Given the description of an element on the screen output the (x, y) to click on. 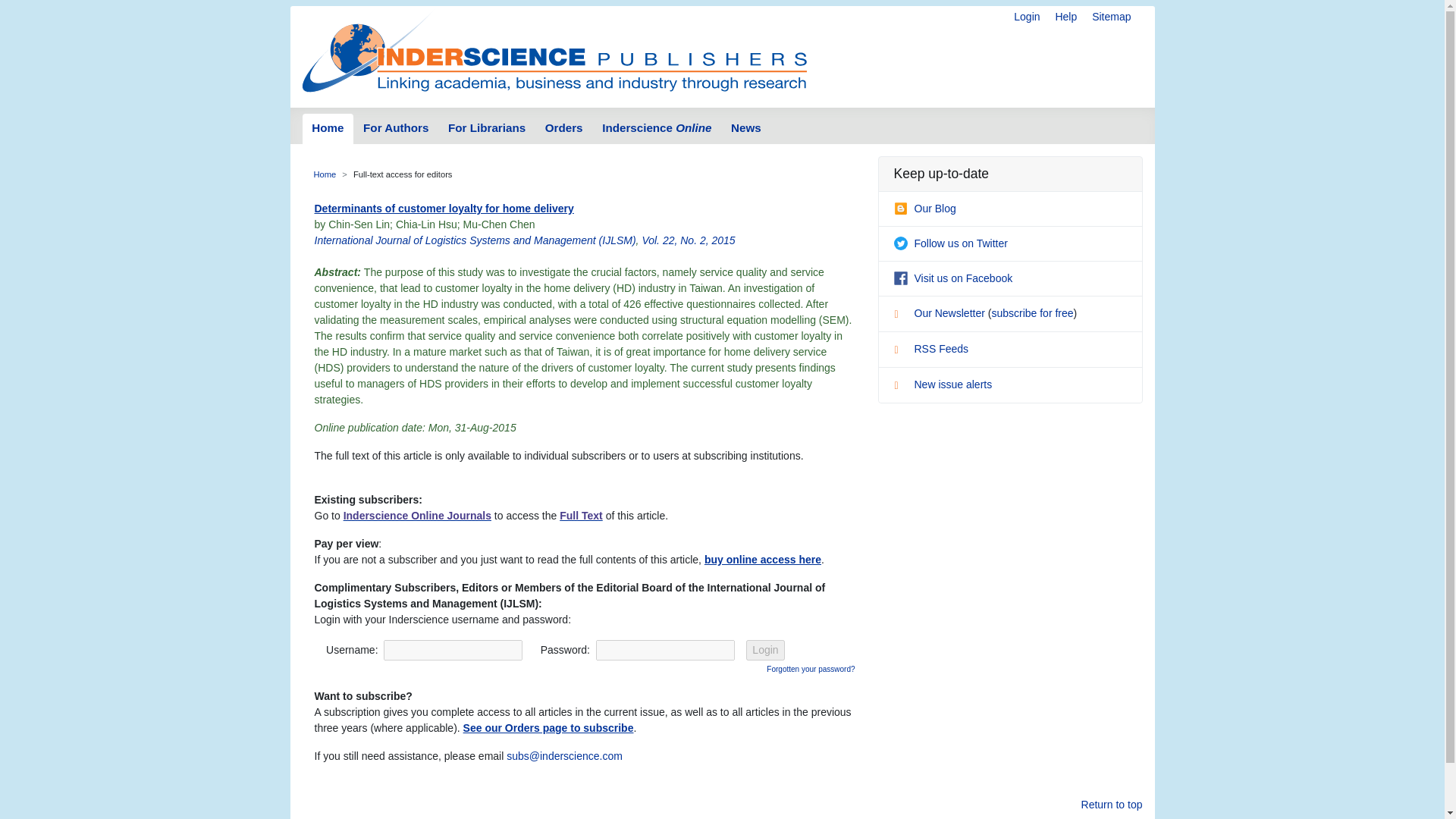
Determinants of customer loyalty for home delivery (443, 208)
Help (1065, 16)
Orders (563, 128)
News (745, 128)
Return to top (1111, 804)
For Authors (395, 128)
For Librarians (486, 128)
Vol. 22, No. 2, 2015 (688, 240)
Sitemap (1111, 16)
Follow us on Twitter (950, 243)
